Given the description of an element on the screen output the (x, y) to click on. 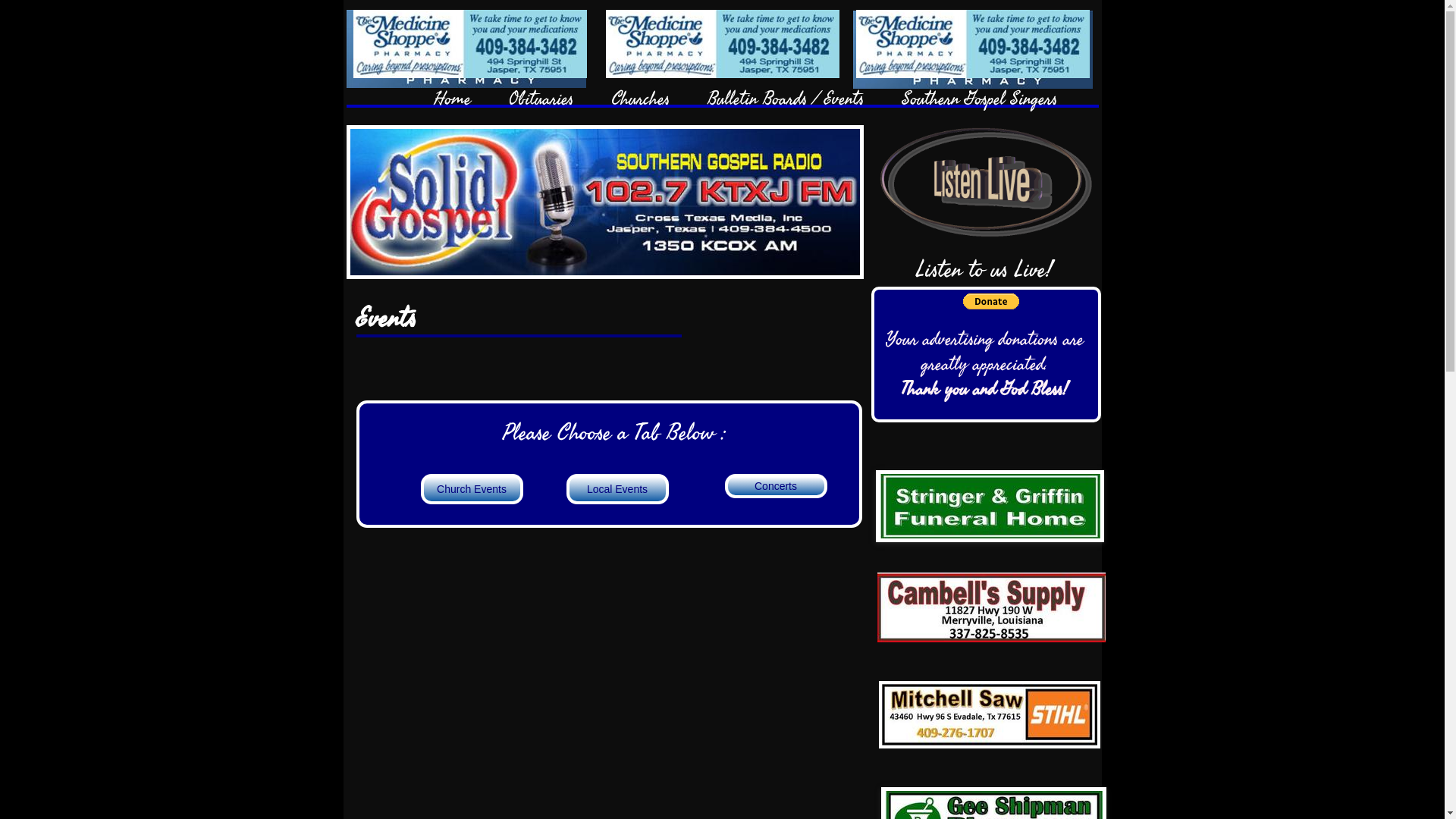
Church Events Element type: text (471, 488)
Southern Gospel Singers Element type: text (979, 95)
Local Events Element type: text (616, 488)
Obituaries Element type: text (540, 95)
Bulletin Boards / Events Element type: text (785, 95)
Home Element type: text (451, 95)
Concerts Element type: text (775, 485)
Churches Element type: text (639, 95)
